Given the description of an element on the screen output the (x, y) to click on. 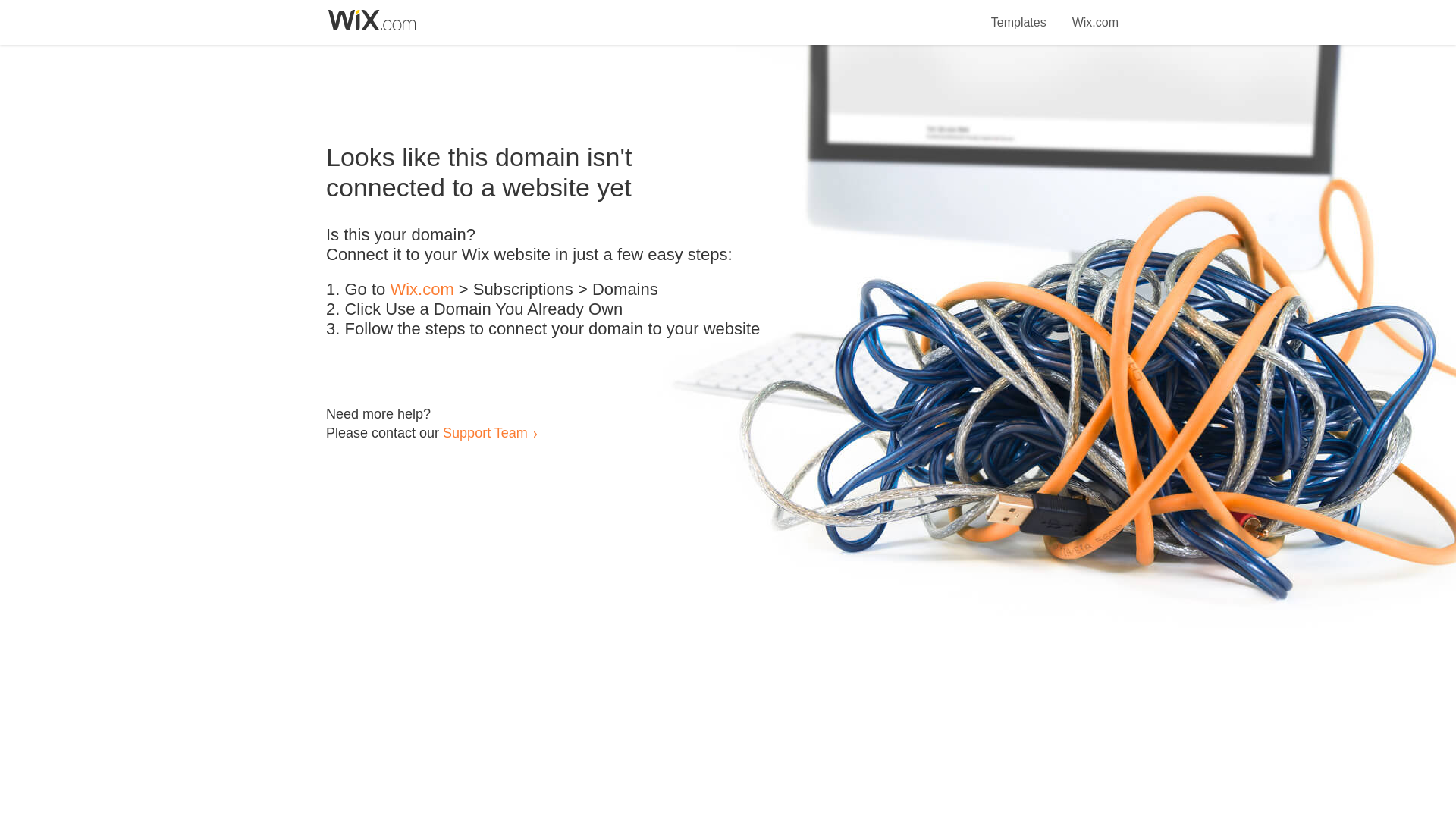
Wix.com (421, 289)
Wix.com (1095, 14)
Templates (1018, 14)
Support Team (484, 432)
